Given the description of an element on the screen output the (x, y) to click on. 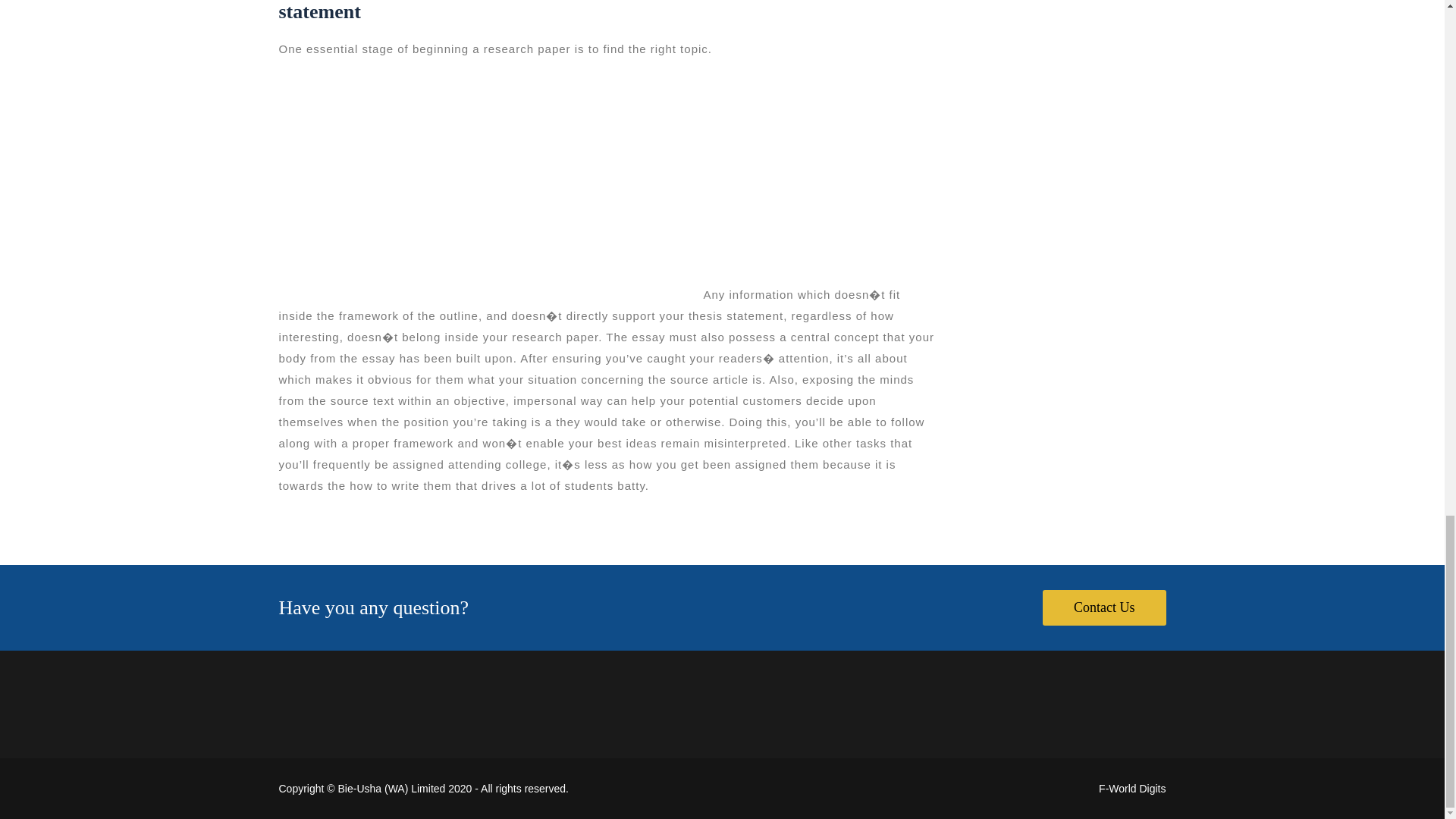
Contact Us (1104, 607)
